Given the description of an element on the screen output the (x, y) to click on. 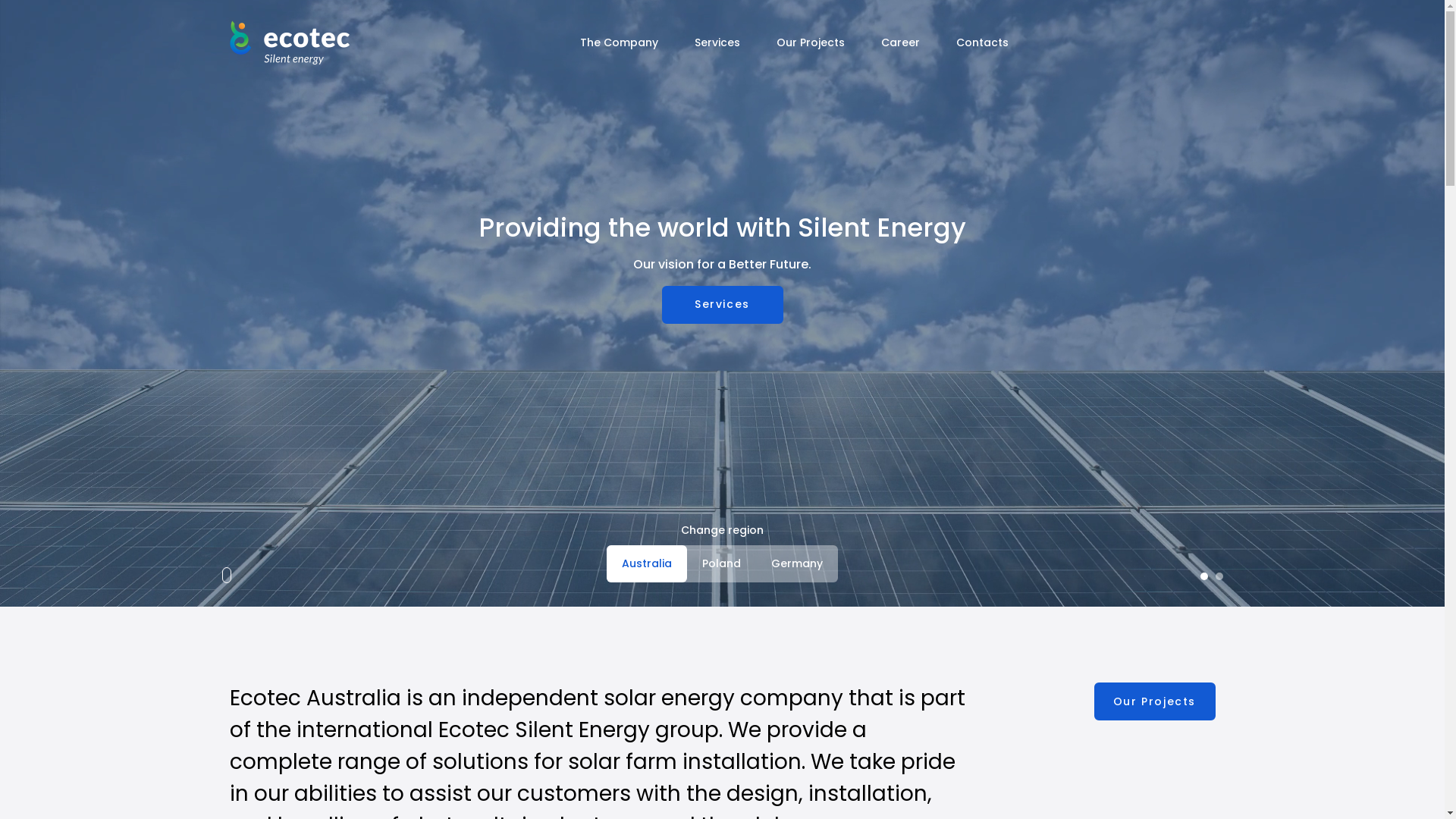
Home Element type: hover (288, 42)
Services Element type: text (717, 42)
Poland Element type: text (721, 563)
The Company Element type: text (618, 42)
Germany Element type: text (796, 563)
Our Projects Element type: text (1153, 701)
Our Projects Element type: text (810, 42)
2 Element type: text (1218, 576)
Skip to main content Element type: text (721, 1)
Australia Element type: text (646, 563)
Career Element type: text (900, 42)
Learn more Element type: text (721, 304)
1 Element type: text (1203, 576)
Contacts Element type: text (982, 42)
